Given the description of an element on the screen output the (x, y) to click on. 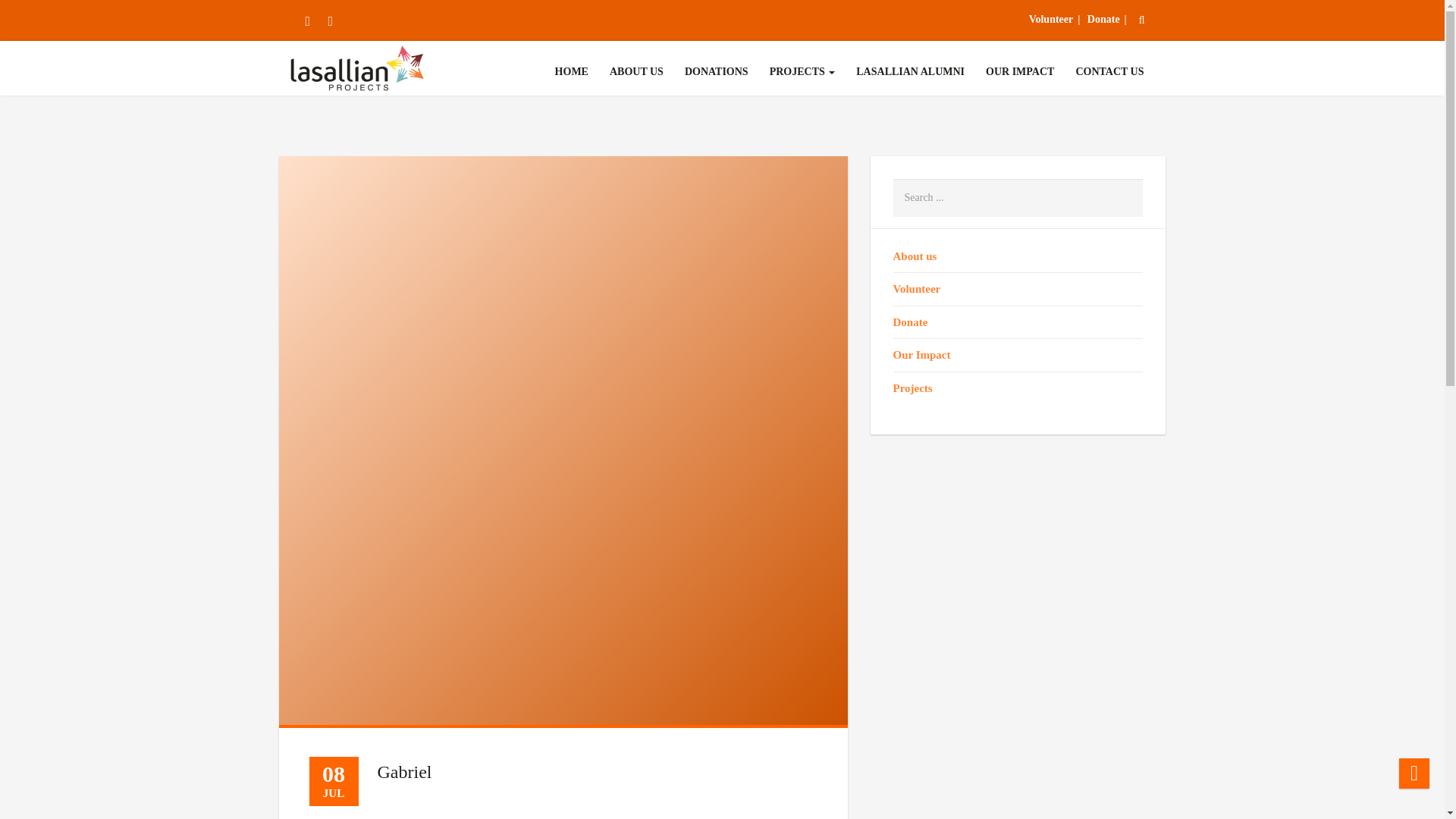
CONTACT US (1108, 71)
Lasallian Alumni (909, 71)
Home (571, 71)
OUR IMPACT (1019, 71)
Donations (716, 71)
About us (915, 256)
Projects (802, 71)
Back to Top (1414, 773)
Donate (1106, 19)
ABOUT US (636, 71)
